Given the description of an element on the screen output the (x, y) to click on. 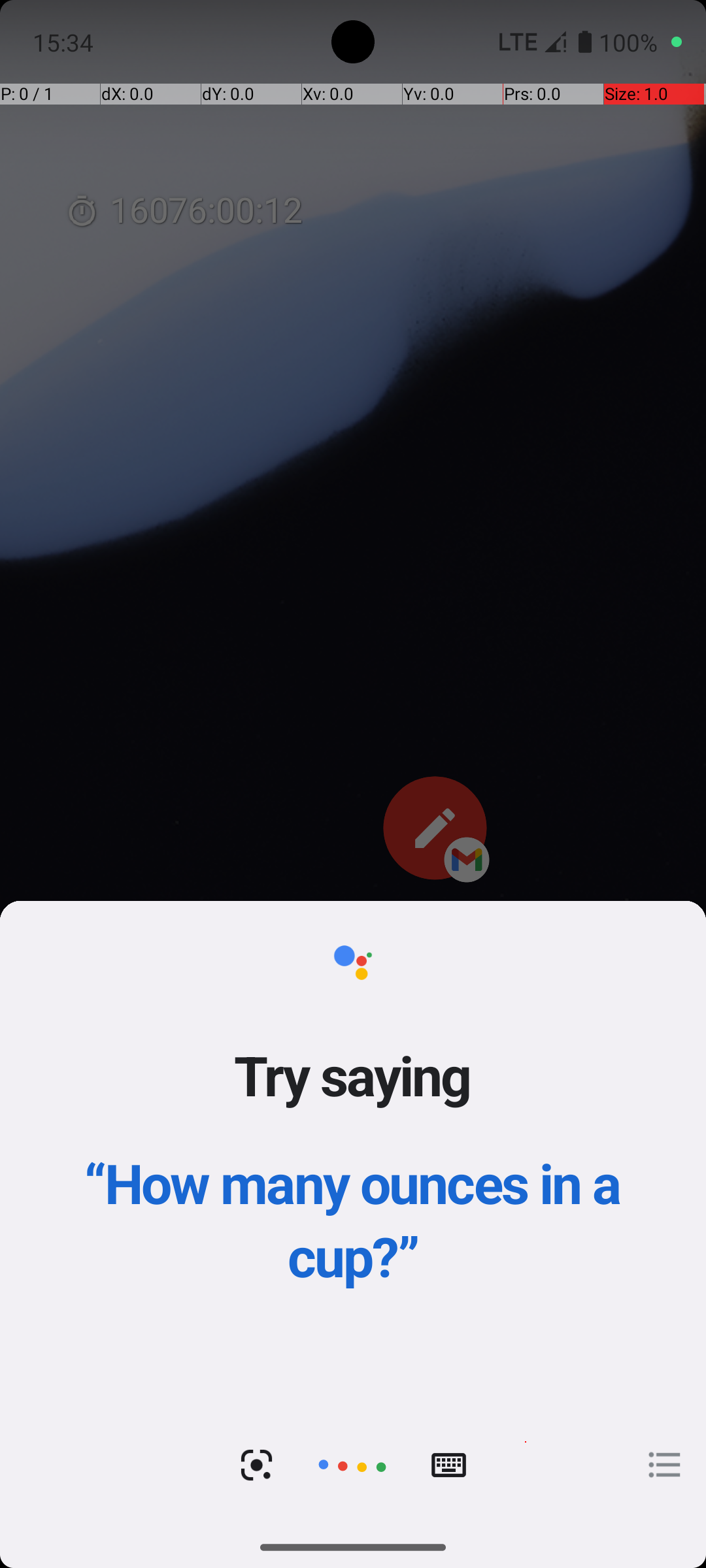
Tap to dismiss Assistant Element type: android.view.ViewGroup (353, 804)
Google Assistant widget. Element type: android.support.v7.widget.RecyclerView (353, 1213)
Google Assistant greeting container. Element type: android.widget.LinearLayout (353, 1151)
Camera search Element type: android.widget.ImageView (256, 1465)
Tap to cancel Element type: android.view.View (351, 1465)
Type mode Element type: android.widget.ImageView (448, 1465)
Google Assistant greeting. Element type: android.widget.FrameLayout (353, 1213)
Open explore page Element type: android.widget.ImageView (664, 1464)
Try saying Element type: android.widget.TextView (352, 1074)
“How many ounces in a cup?” Element type: android.widget.TextView (352, 1218)
